Given the description of an element on the screen output the (x, y) to click on. 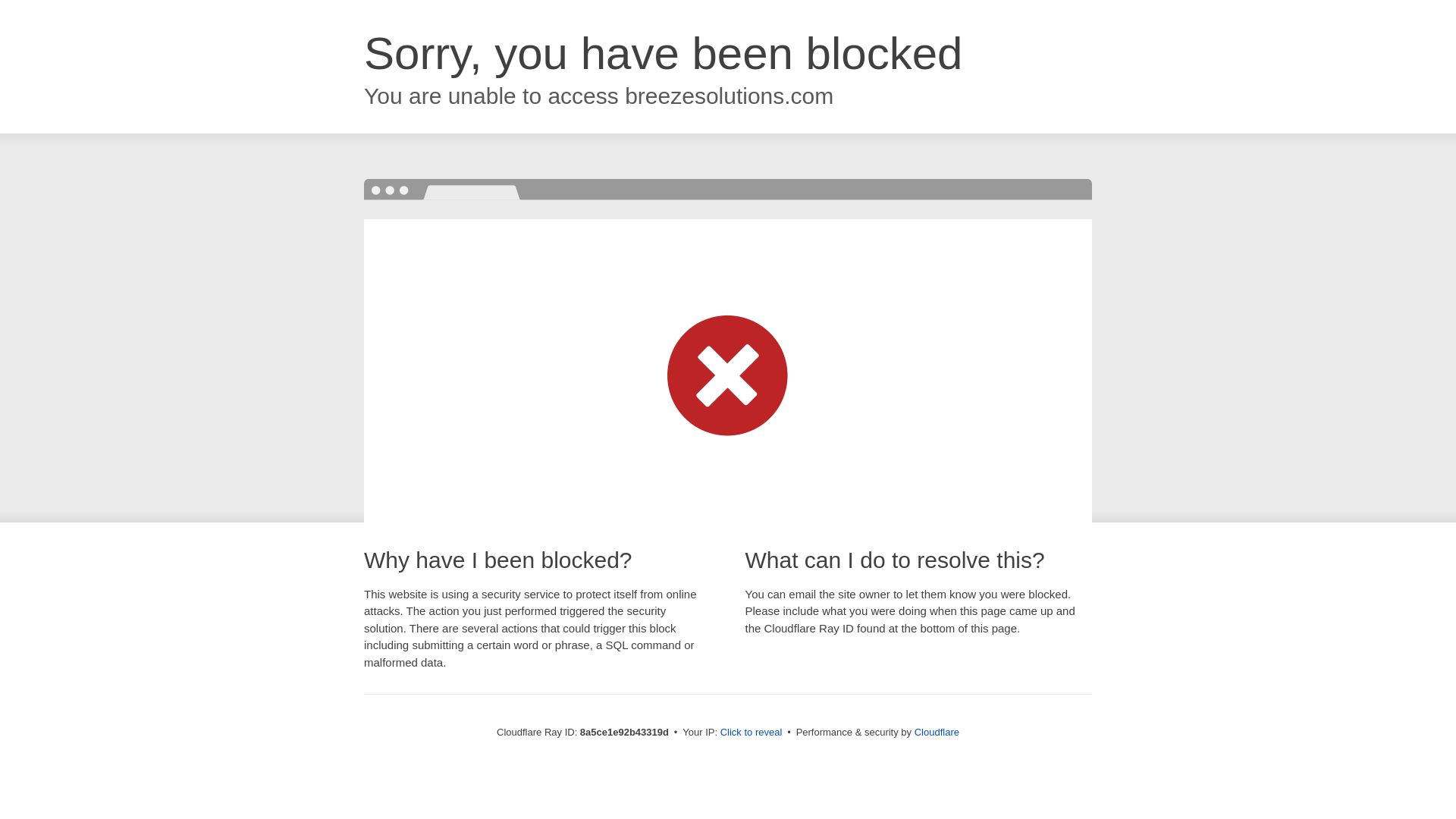
Cloudflare (936, 731)
Click to reveal (751, 732)
